Given the description of an element on the screen output the (x, y) to click on. 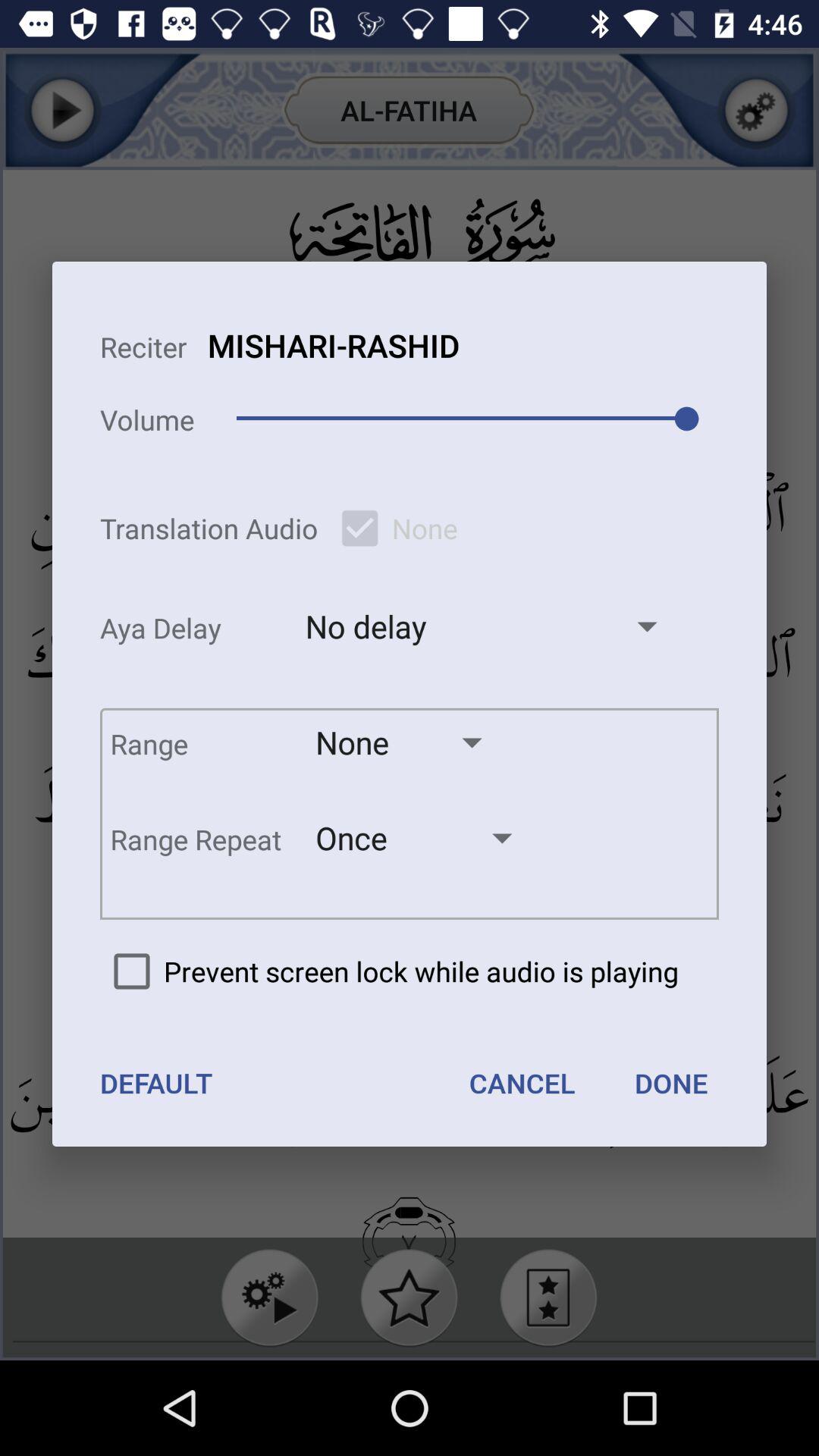
flip to the done icon (670, 1082)
